Given the description of an element on the screen output the (x, y) to click on. 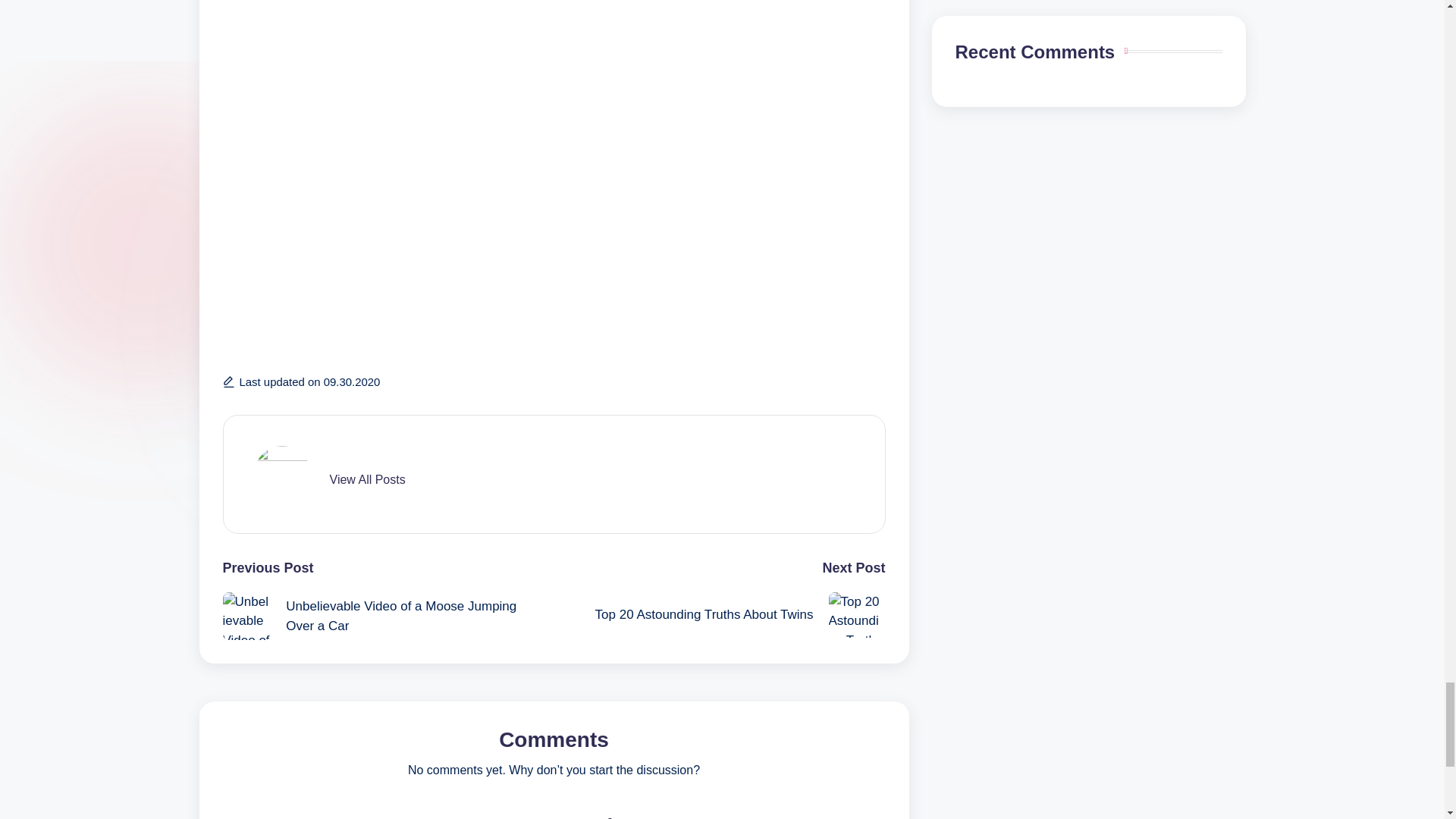
View All Posts (366, 479)
Unbelievable Video of a Moose Jumping Over a Car (388, 616)
Top 20 Astounding Truths About Twins (719, 615)
